Given the description of an element on the screen output the (x, y) to click on. 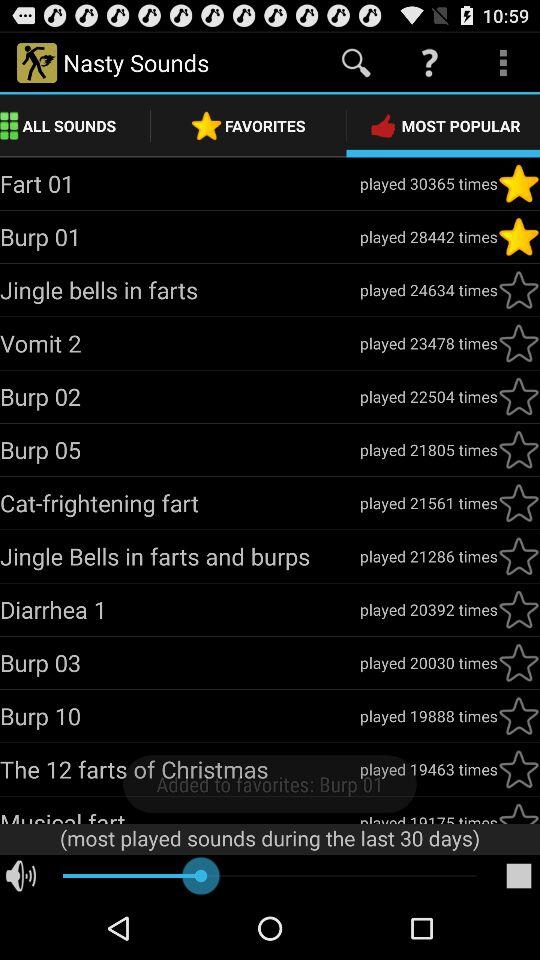
tap the played 21561 times (428, 502)
